Given the description of an element on the screen output the (x, y) to click on. 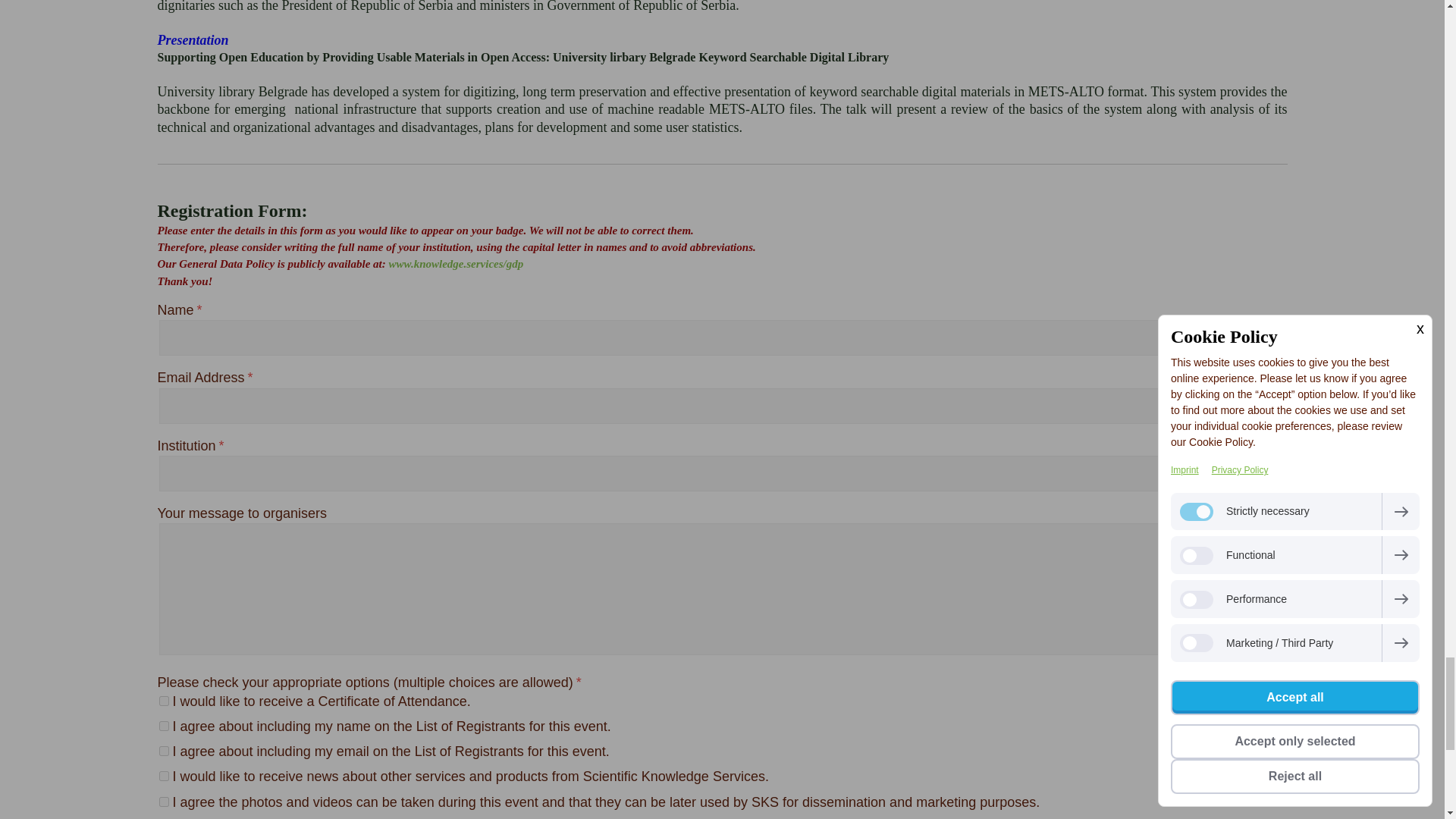
I would like to receive a Certificate of Attendance. (163, 700)
